Given the description of an element on the screen output the (x, y) to click on. 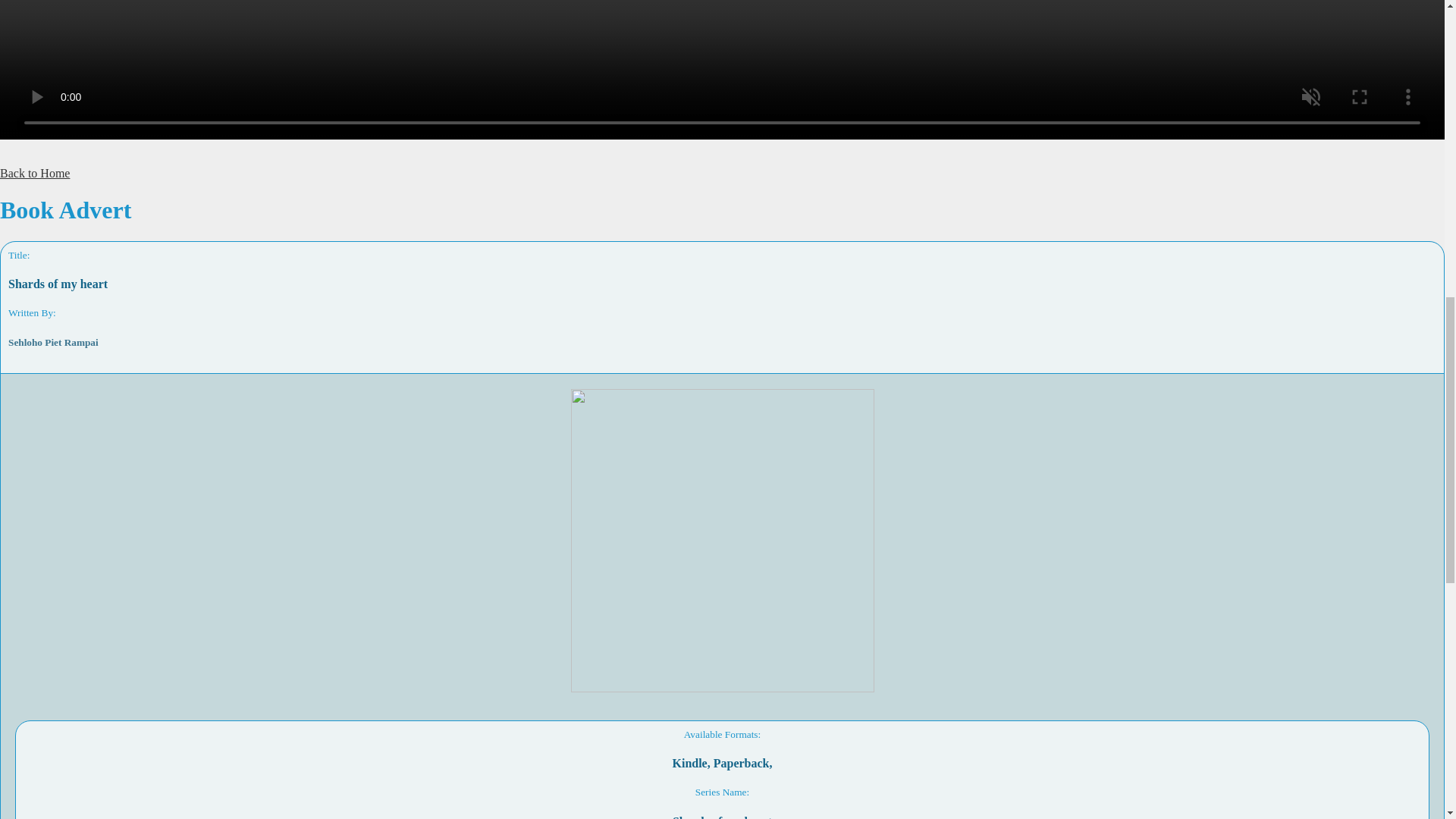
Back to Home (34, 173)
